Given the description of an element on the screen output the (x, y) to click on. 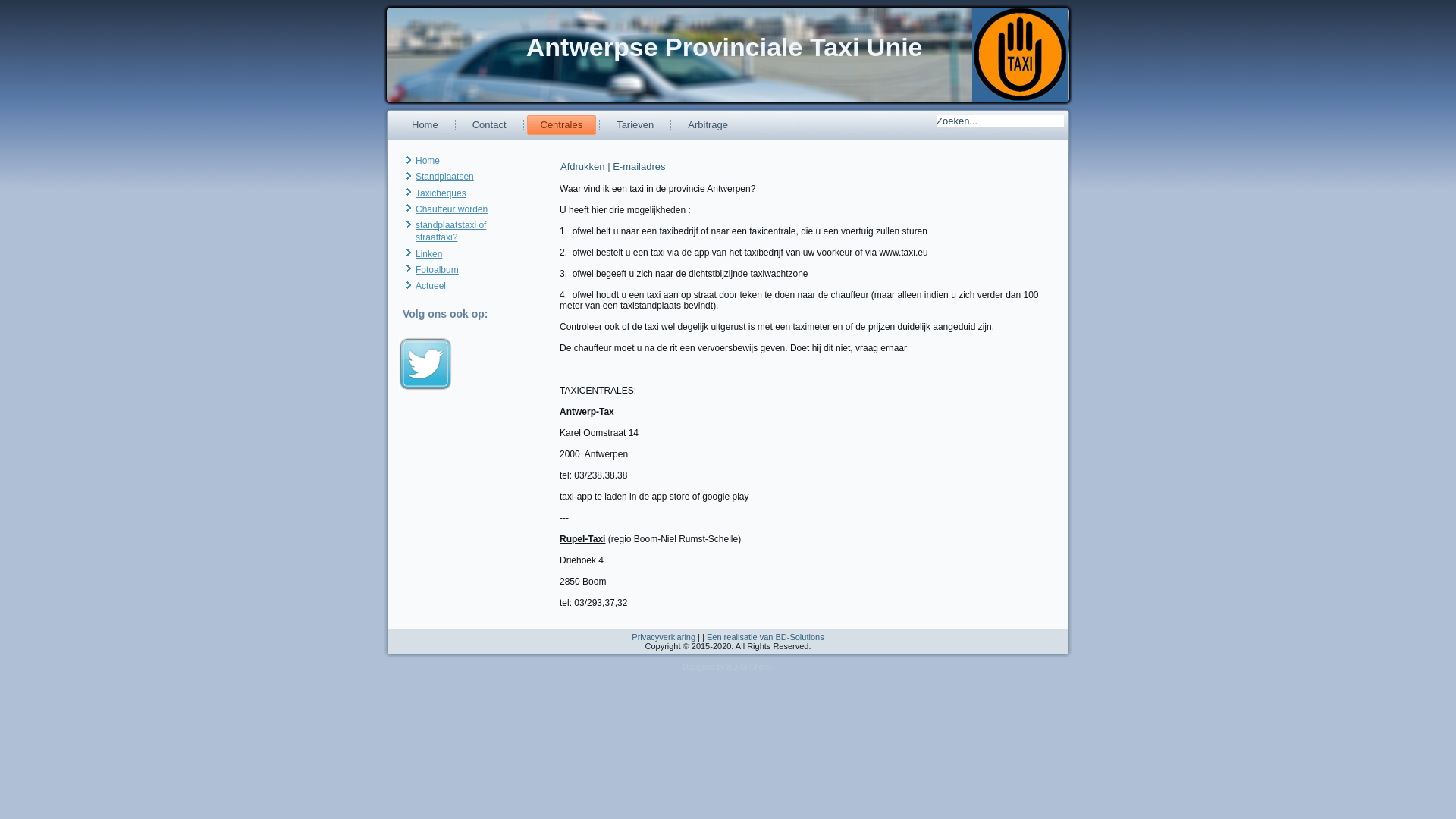
Home Element type: text (424, 124)
E-mailadres Element type: text (638, 166)
Centrales Element type: text (561, 124)
Home Element type: text (427, 160)
Taxicheques Element type: text (440, 193)
Afdrukken Element type: text (583, 166)
Contact Element type: text (489, 124)
Linken Element type: text (428, 253)
standplaatstaxi of straattaxi? Element type: text (450, 230)
Antwerpse Provinciale Taxi Unie Element type: text (724, 46)
Fotoalbum Element type: text (436, 269)
Standplaatsen Element type: text (444, 176)
Arbitrage Element type: text (707, 124)
Chauffeur worden Element type: text (451, 208)
Tarieven Element type: text (634, 124)
Actueel Element type: text (430, 285)
Een realisatie van BD-Solutions Element type: text (765, 636)
Privacyverklaring Element type: text (663, 636)
